Given the description of an element on the screen output the (x, y) to click on. 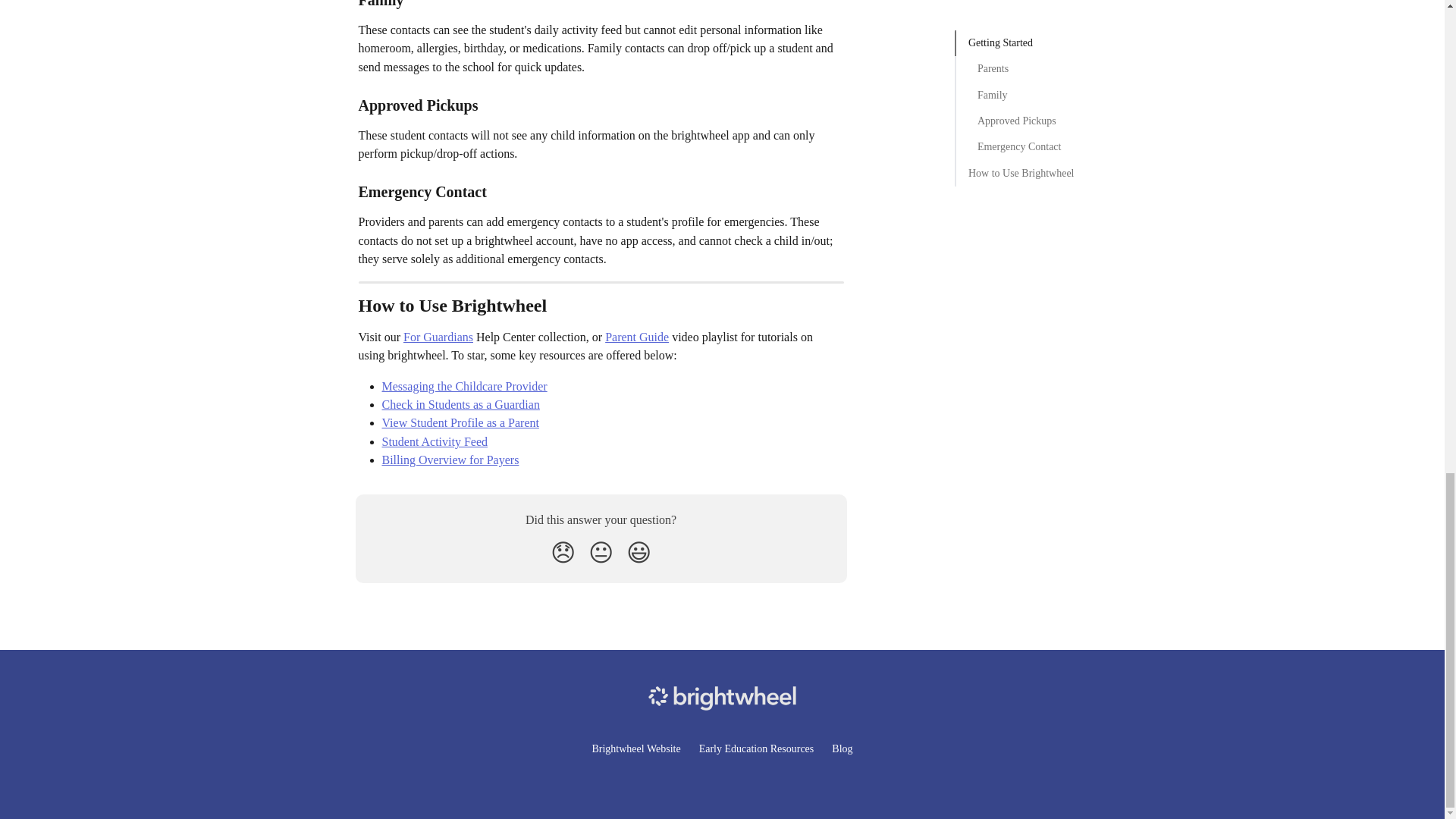
Parent Guide (636, 336)
Brightwheel Website (635, 748)
Neutral (600, 552)
View Student Profile as a Parent (459, 422)
Check in Students as a Guardian (460, 404)
Early Education Resources (755, 748)
Smiley (638, 552)
For Guardians (438, 336)
Student Activity Feed (434, 440)
Disappointed (562, 552)
